Given the description of an element on the screen output the (x, y) to click on. 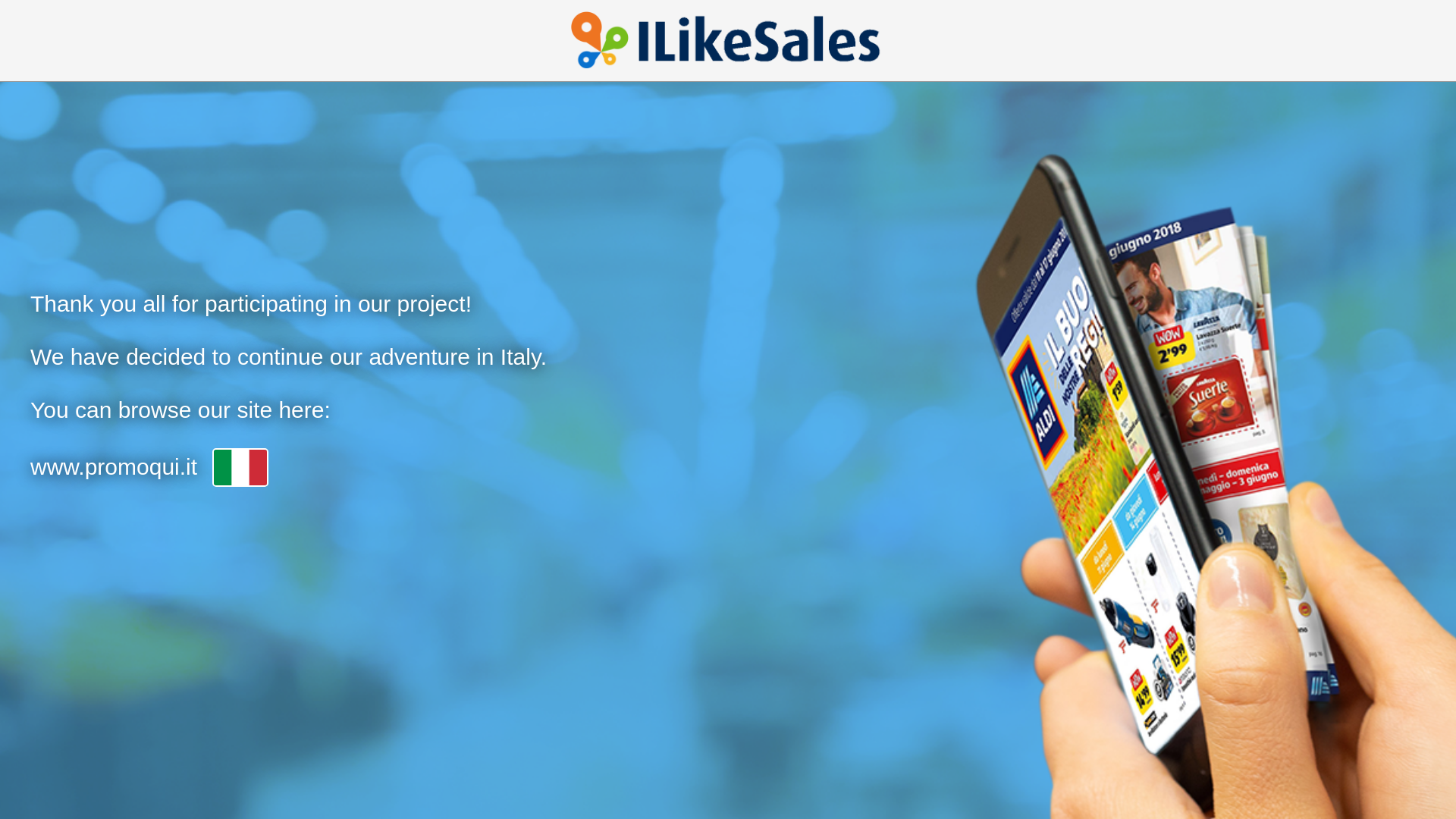
www.promoqui.it Element type: text (113, 466)
